Given the description of an element on the screen output the (x, y) to click on. 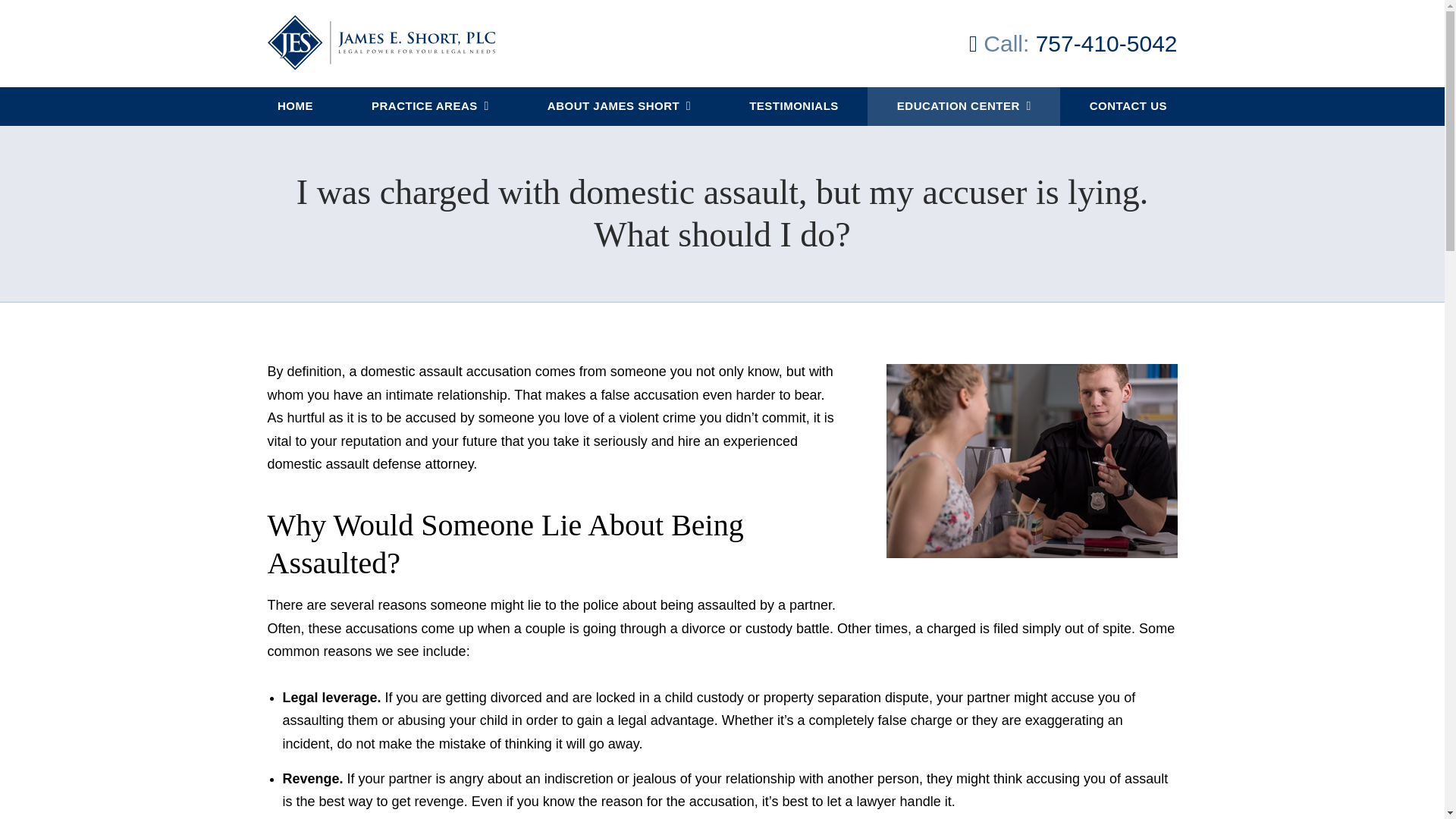
PRACTICE AREAS (430, 106)
EDUCATION CENTER (963, 106)
CONTACT US (1127, 106)
ABOUT JAMES SHORT (618, 106)
TESTIMONIALS (793, 106)
HOME (295, 106)
